Given the description of an element on the screen output the (x, y) to click on. 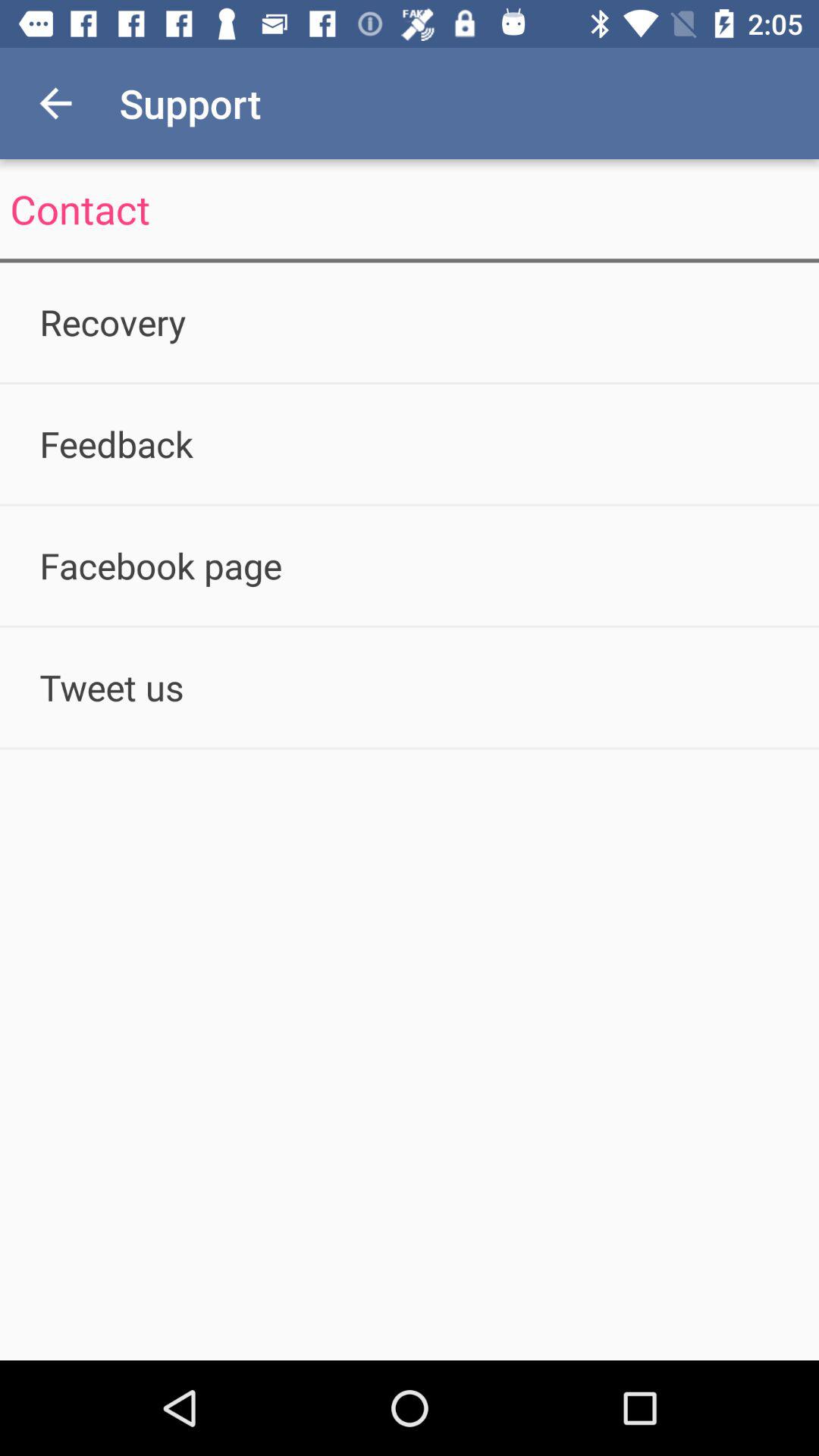
tap icon above contact (55, 103)
